Given the description of an element on the screen output the (x, y) to click on. 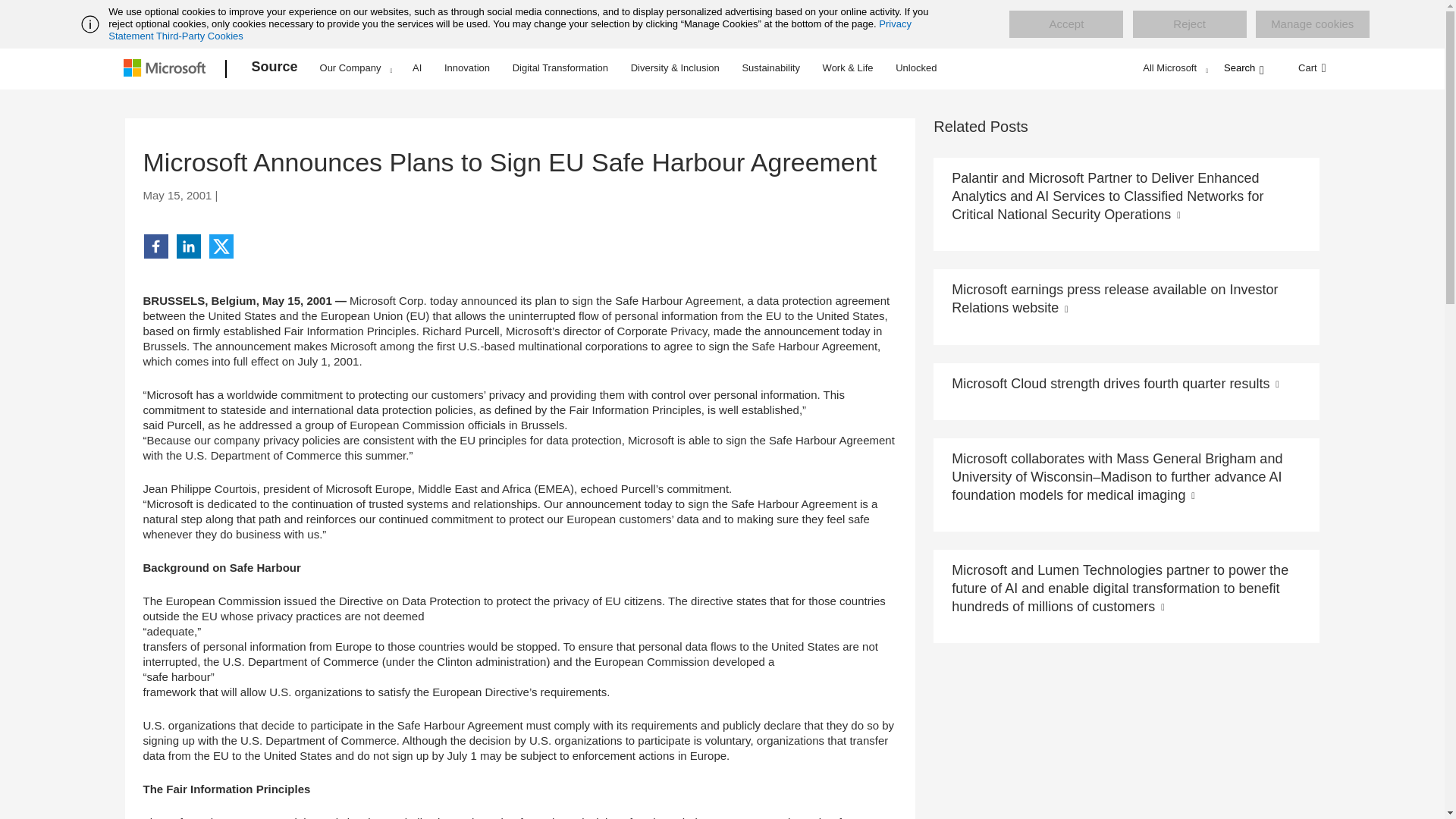
Privacy Statement (509, 29)
All Microsoft (1173, 67)
Accept (1065, 23)
Digital Transformation (559, 67)
Source (274, 69)
Sustainability (770, 67)
Reject (1189, 23)
Microsoft (167, 69)
Innovation (467, 67)
Unlocked (915, 67)
